Given the description of an element on the screen output the (x, y) to click on. 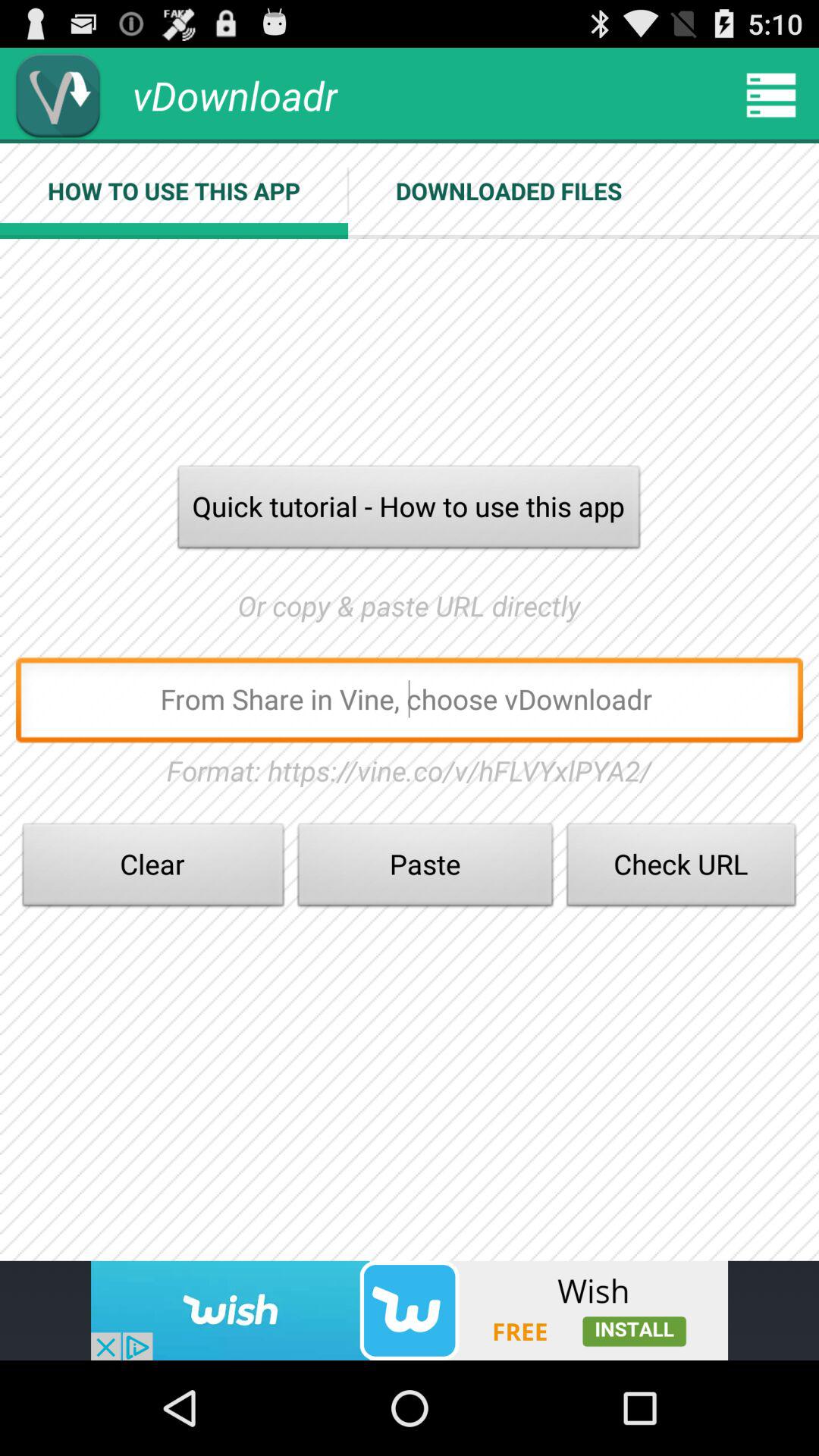
install app (409, 1310)
